Given the description of an element on the screen output the (x, y) to click on. 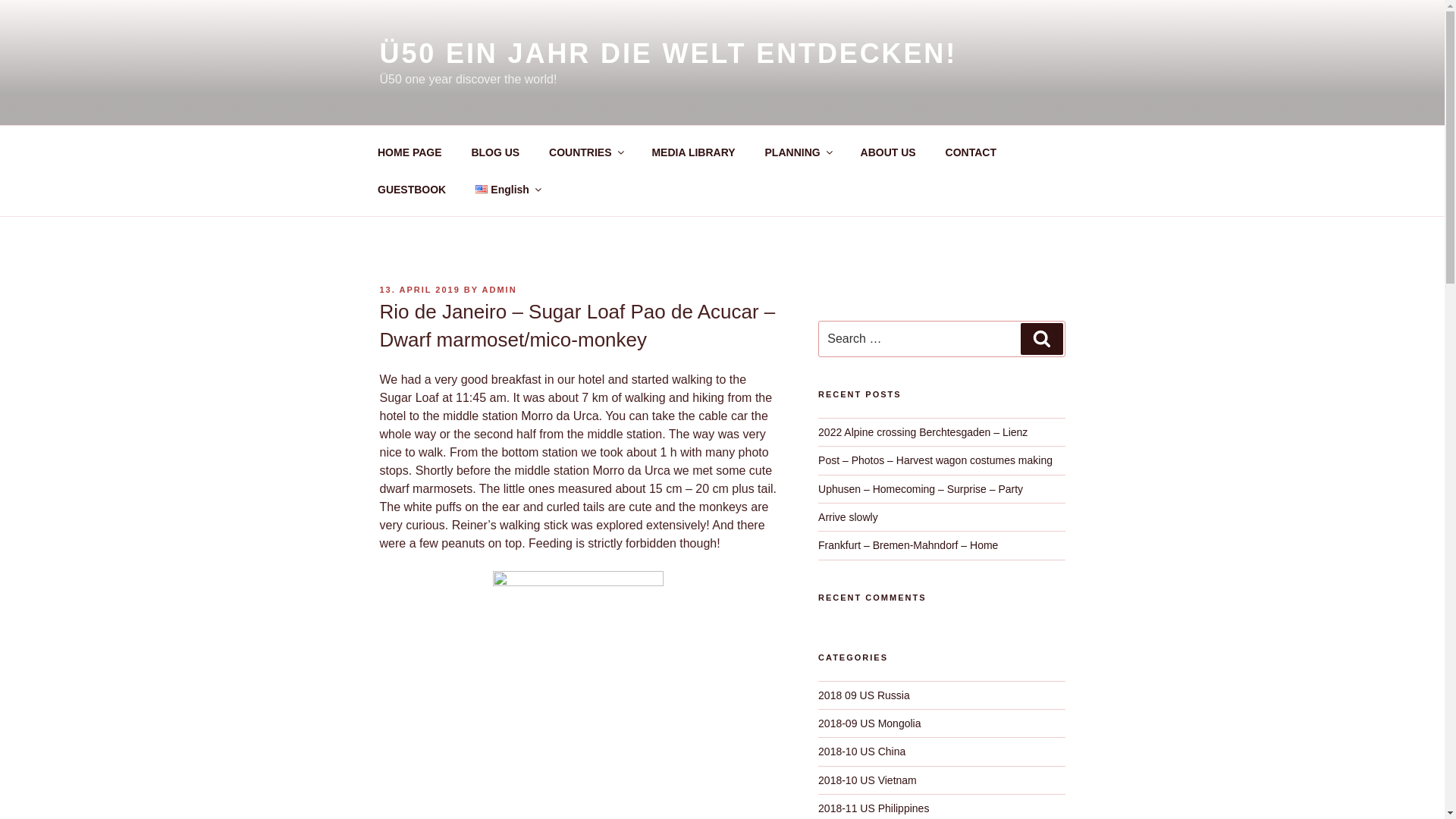
BLOG US (495, 151)
ABOUT US (887, 151)
COUNTRIES (584, 151)
English (508, 189)
PLANNING (797, 151)
GUESTBOOK (411, 189)
2018-10 Vietnam (867, 779)
2018 09 Russland (864, 694)
2018-10 China (861, 751)
2018-09 Mongolei (869, 723)
2018-11 Philippinen (873, 808)
MEDIA LIBRARY (693, 151)
HOME PAGE (409, 151)
CONTACT (970, 151)
